Given the description of an element on the screen output the (x, y) to click on. 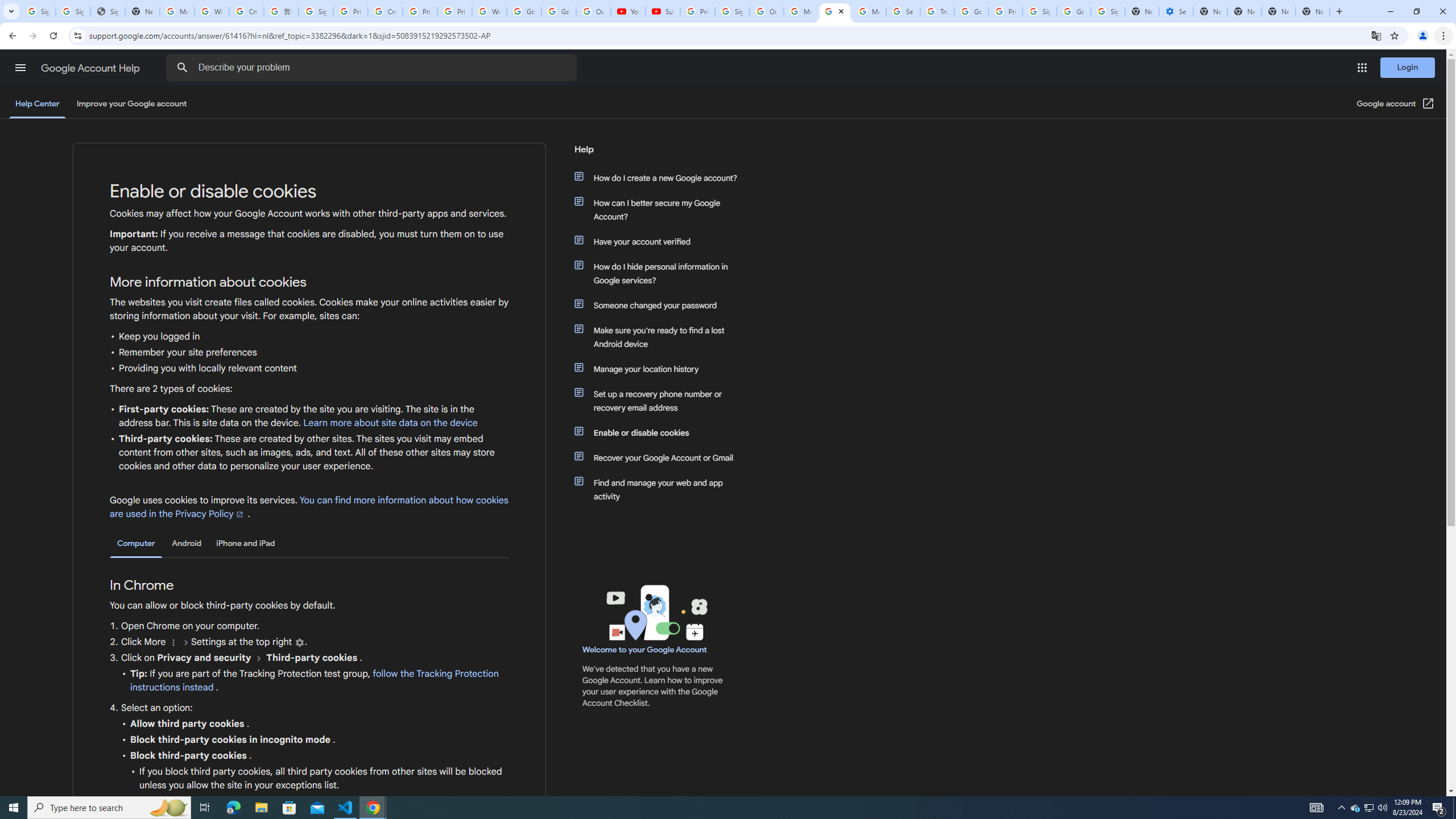
Who is my administrator? - Google Account Help (211, 11)
Help Center (36, 103)
Create your Google Account (246, 11)
Sign in - Google Accounts (315, 11)
and then (258, 657)
Improve your Google account (131, 103)
Help (656, 153)
Sign in - Google Accounts (732, 11)
Find and manage your web and app activity (661, 489)
